Given the description of an element on the screen output the (x, y) to click on. 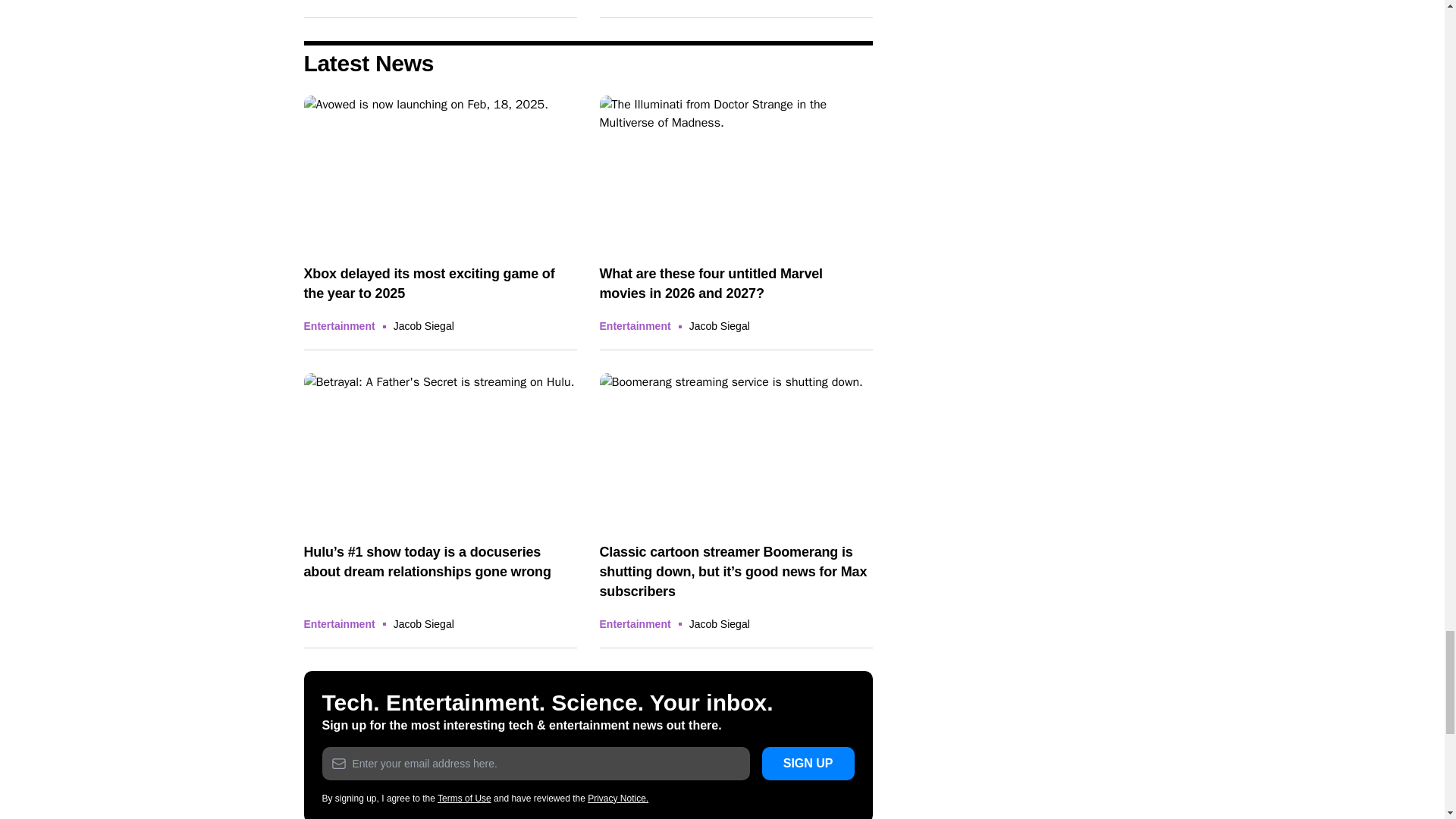
Posts by Jacob Siegal (423, 326)
Boomerang (735, 450)
Posts by Jacob Siegal (718, 623)
Betrayal (439, 450)
Marvel movies (735, 172)
Posts by Jacob Siegal (423, 623)
Posts by Jacob Siegal (718, 326)
Avowed (439, 172)
